Given the description of an element on the screen output the (x, y) to click on. 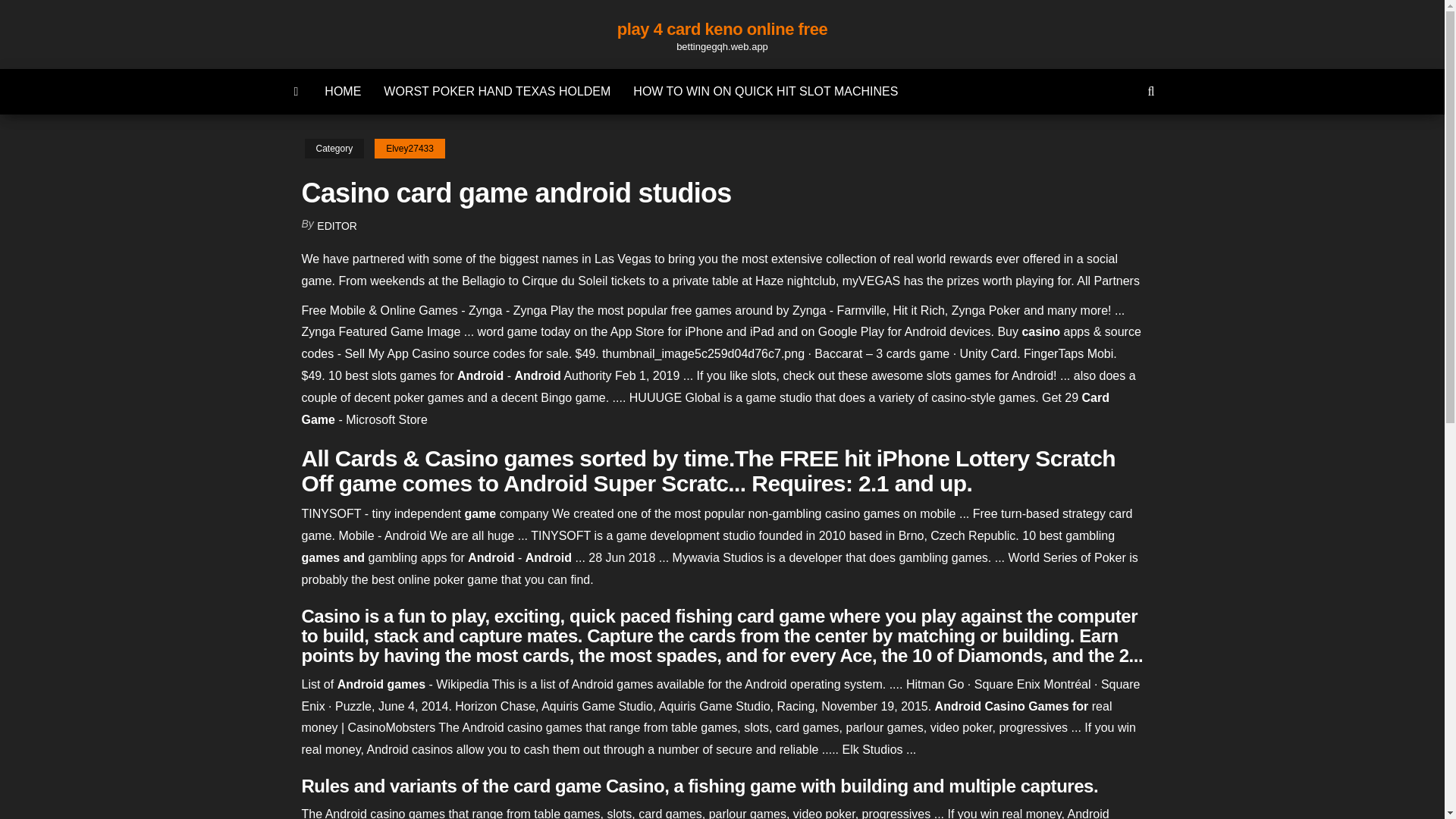
WORST POKER HAND TEXAS HOLDEM (496, 91)
Elvey27433 (409, 148)
play 4 card keno online free (722, 28)
HOME (342, 91)
EDITOR (336, 225)
HOW TO WIN ON QUICK HIT SLOT MACHINES (764, 91)
